Given the description of an element on the screen output the (x, y) to click on. 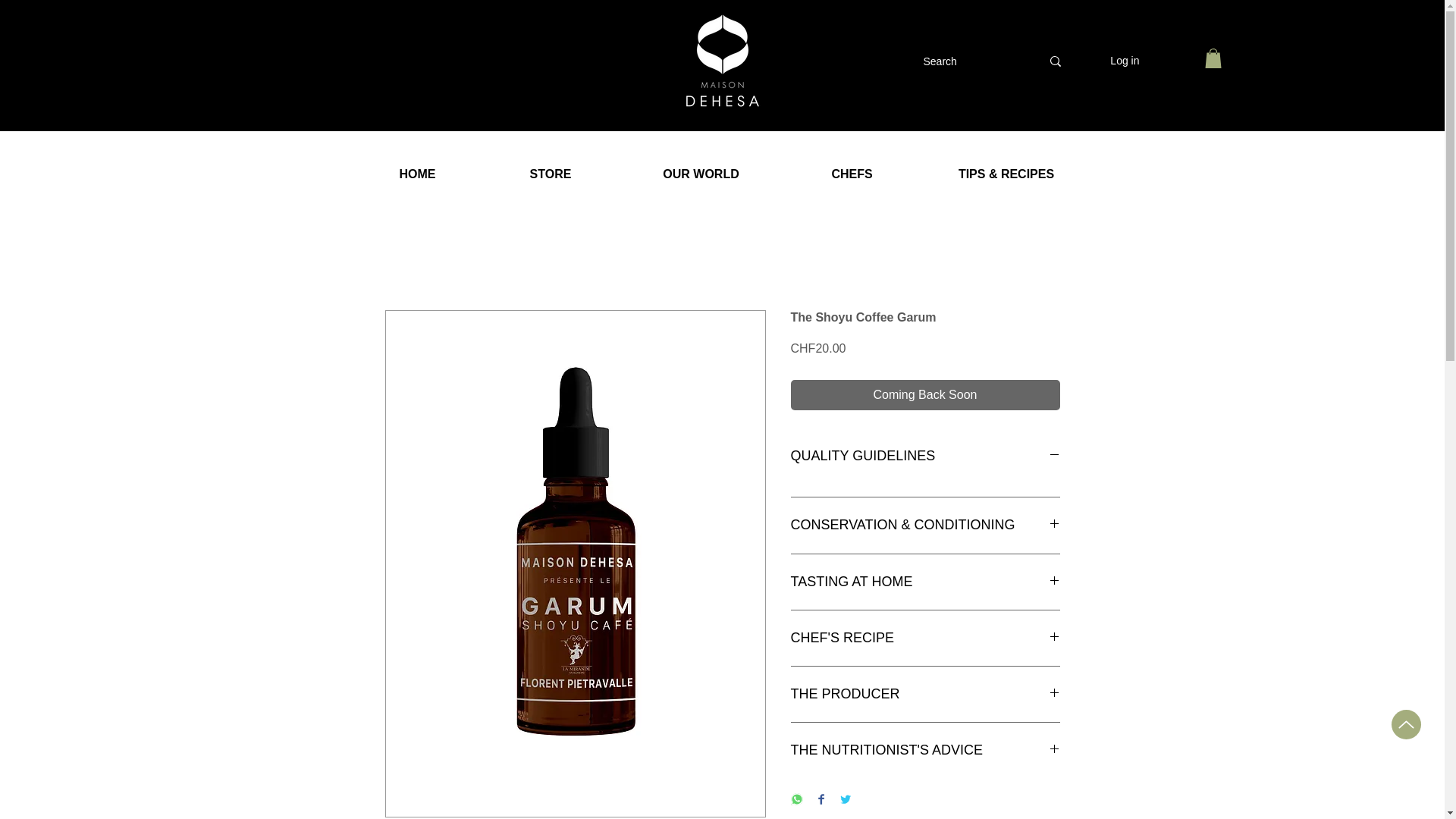
Coming Back Soon (924, 395)
Log in (1124, 61)
CHEF'S RECIPE (924, 637)
THE NUTRITIONIST'S ADVICE (924, 750)
STORE (549, 173)
TASTING AT HOME (924, 581)
THE PRODUCER (924, 693)
CHEFS (852, 173)
QUALITY GUIDELINES (924, 456)
HOME (416, 173)
OUR WORLD (701, 173)
